Given the description of an element on the screen output the (x, y) to click on. 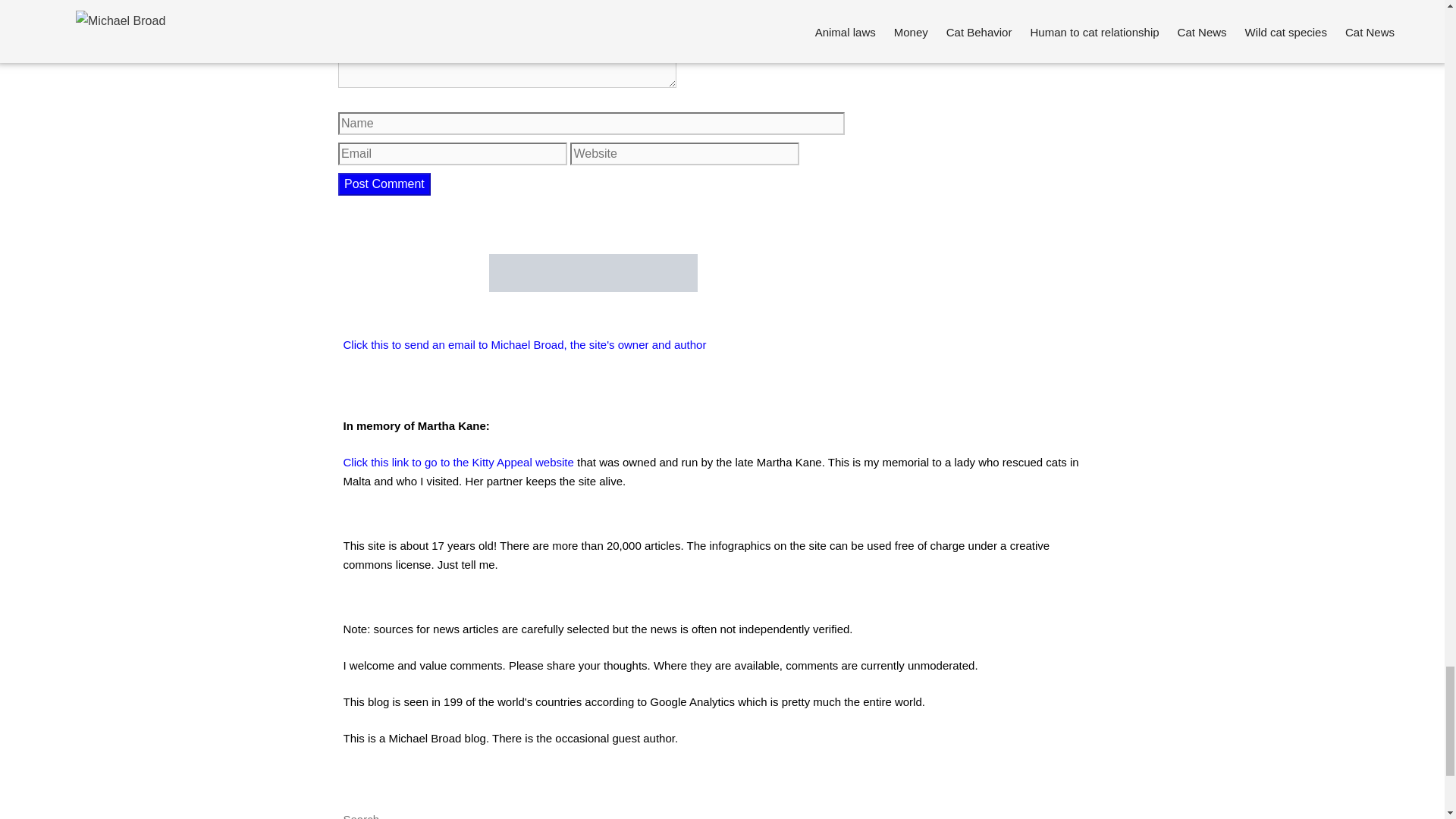
Post Comment (383, 183)
